Given the description of an element on the screen output the (x, y) to click on. 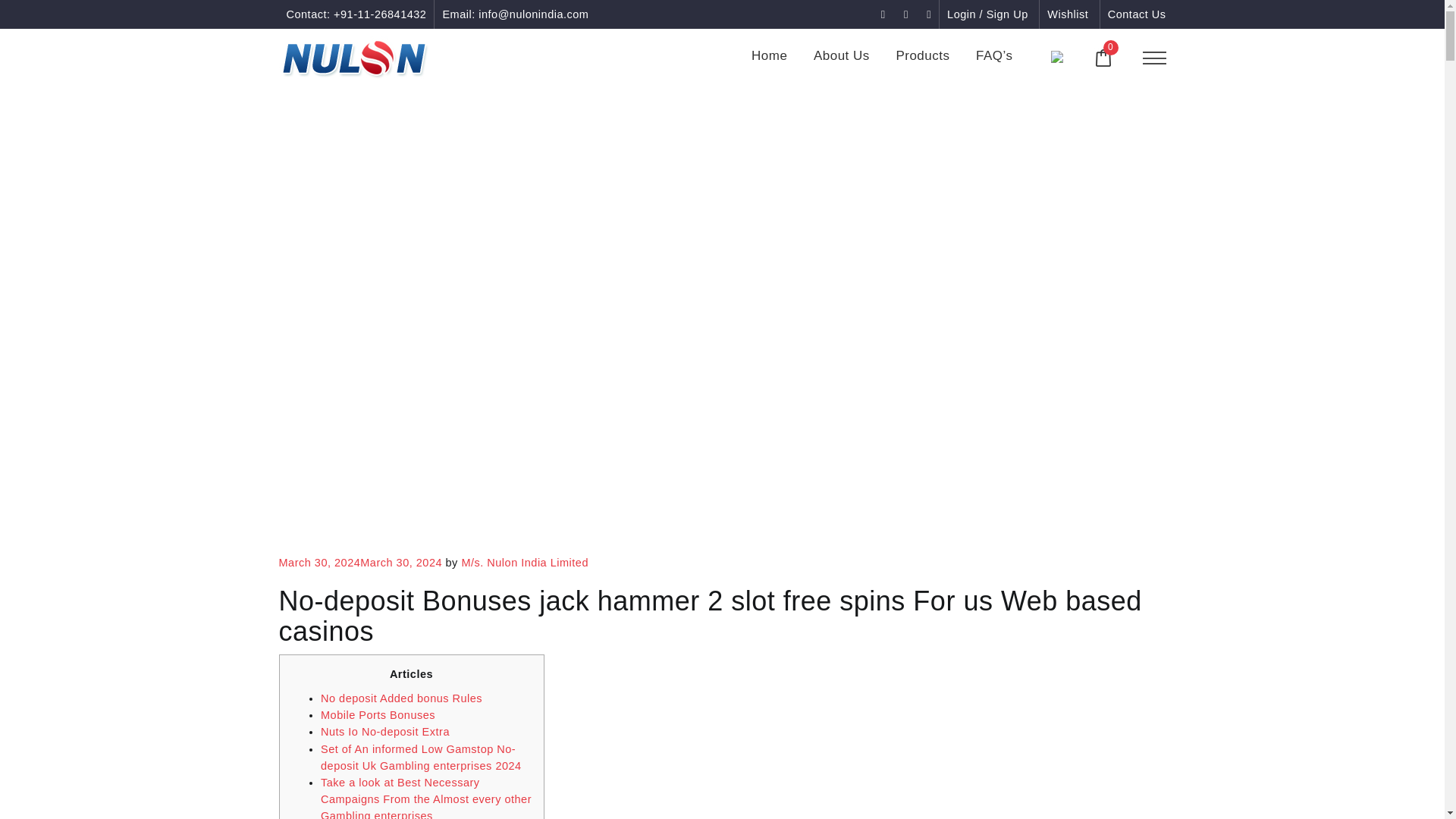
Wishlist (1066, 14)
Facebook (884, 14)
Login (987, 14)
Twitter (928, 14)
Google Plus (907, 14)
Contact Us (1137, 14)
